Given the description of an element on the screen output the (x, y) to click on. 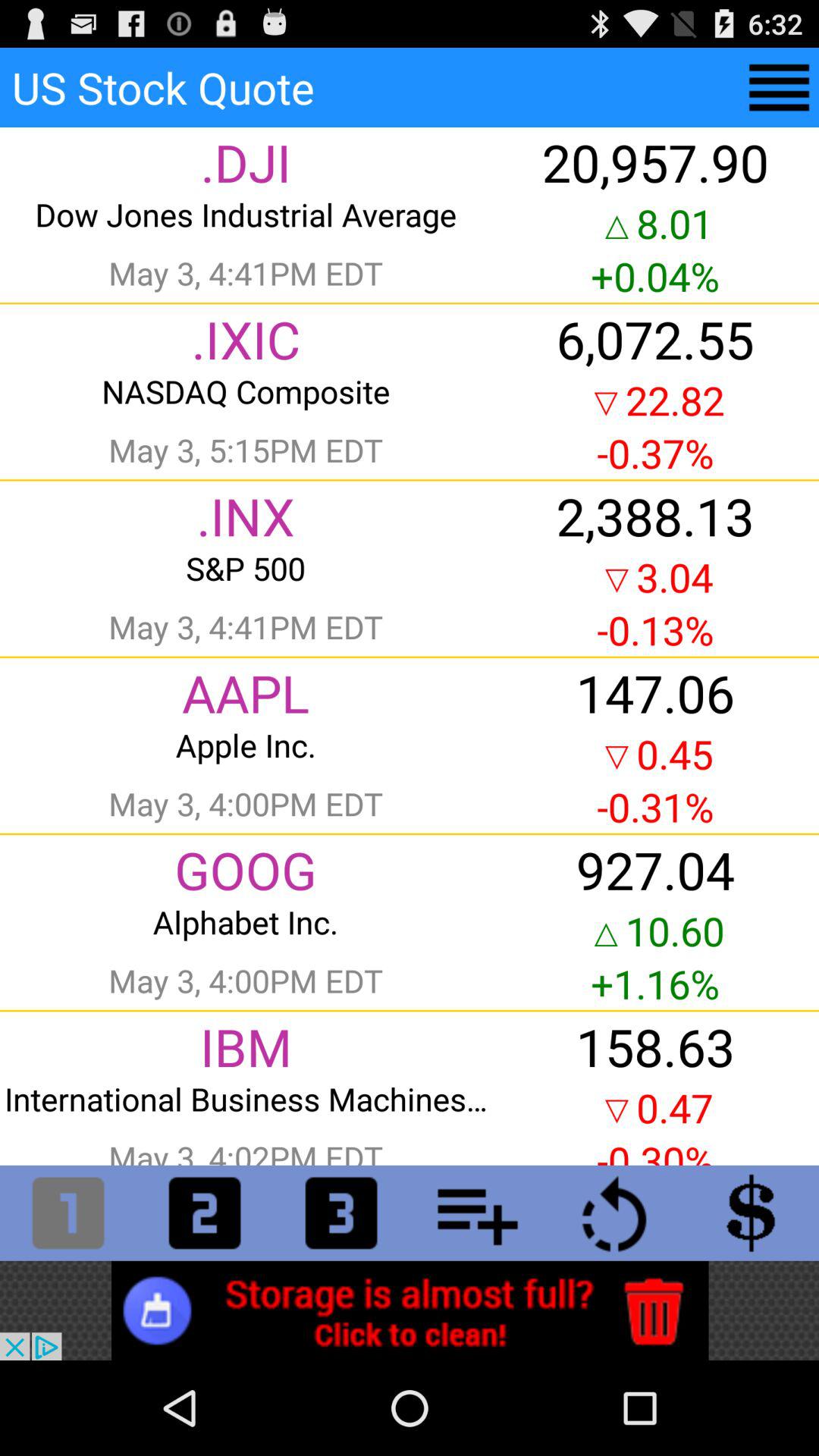
select numper (68, 1212)
